Given the description of an element on the screen output the (x, y) to click on. 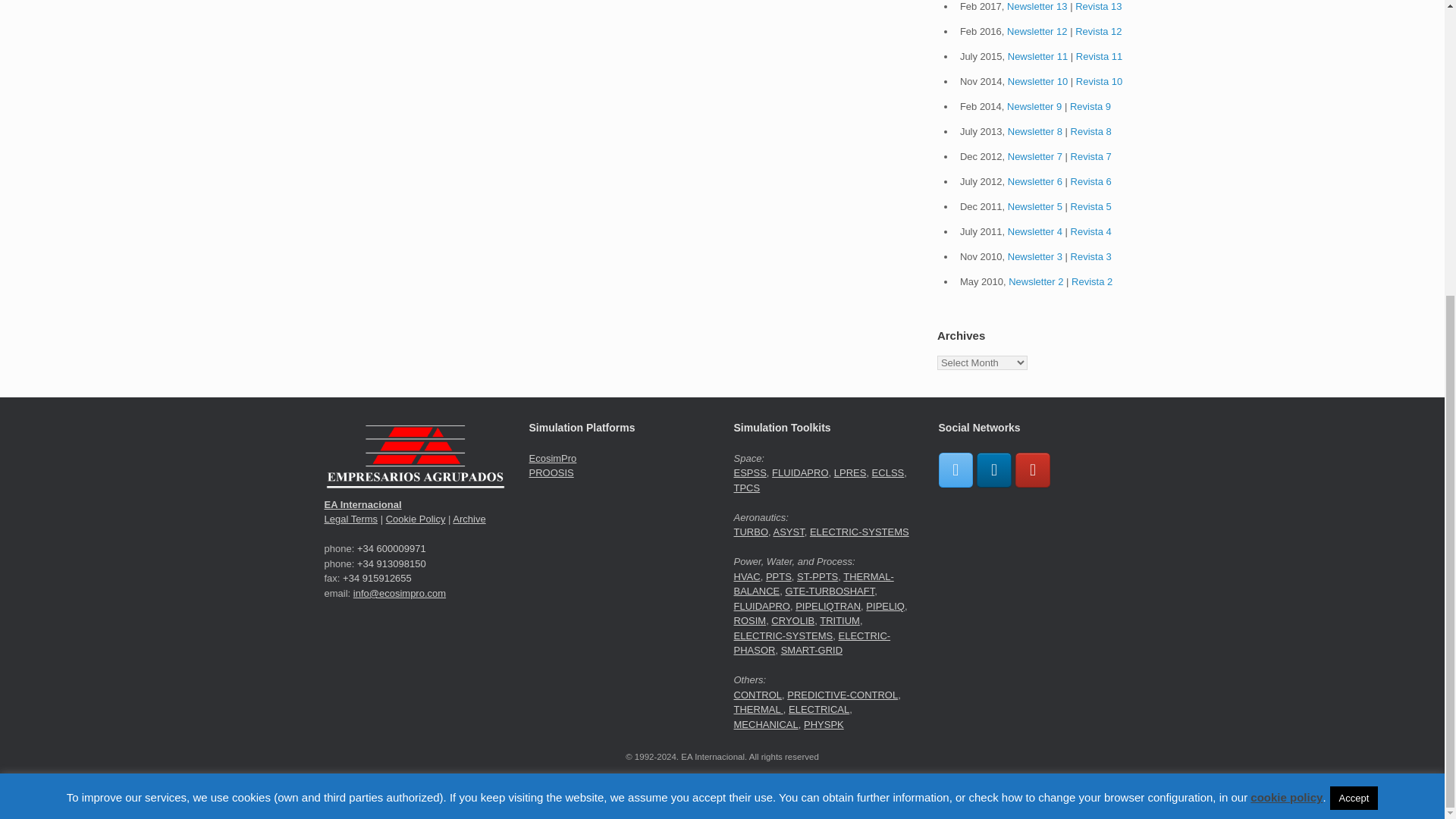
Revista 13 (1098, 6)
Newsletter 7 (1034, 156)
Revista 2 (1091, 281)
Newsletter 11 (1037, 56)
Revista 7 (1091, 156)
Newsletter 10 (1037, 81)
Revista 11 (1098, 56)
Revista 3 (1091, 256)
Newsletter 4 (1034, 231)
Revista 8 (1091, 131)
Revista 6 (1091, 181)
Newsletter 3 (1034, 256)
Revista 12 (1098, 30)
Newsletter 13 (1037, 6)
Newsletter 12 (1037, 30)
